Given the description of an element on the screen output the (x, y) to click on. 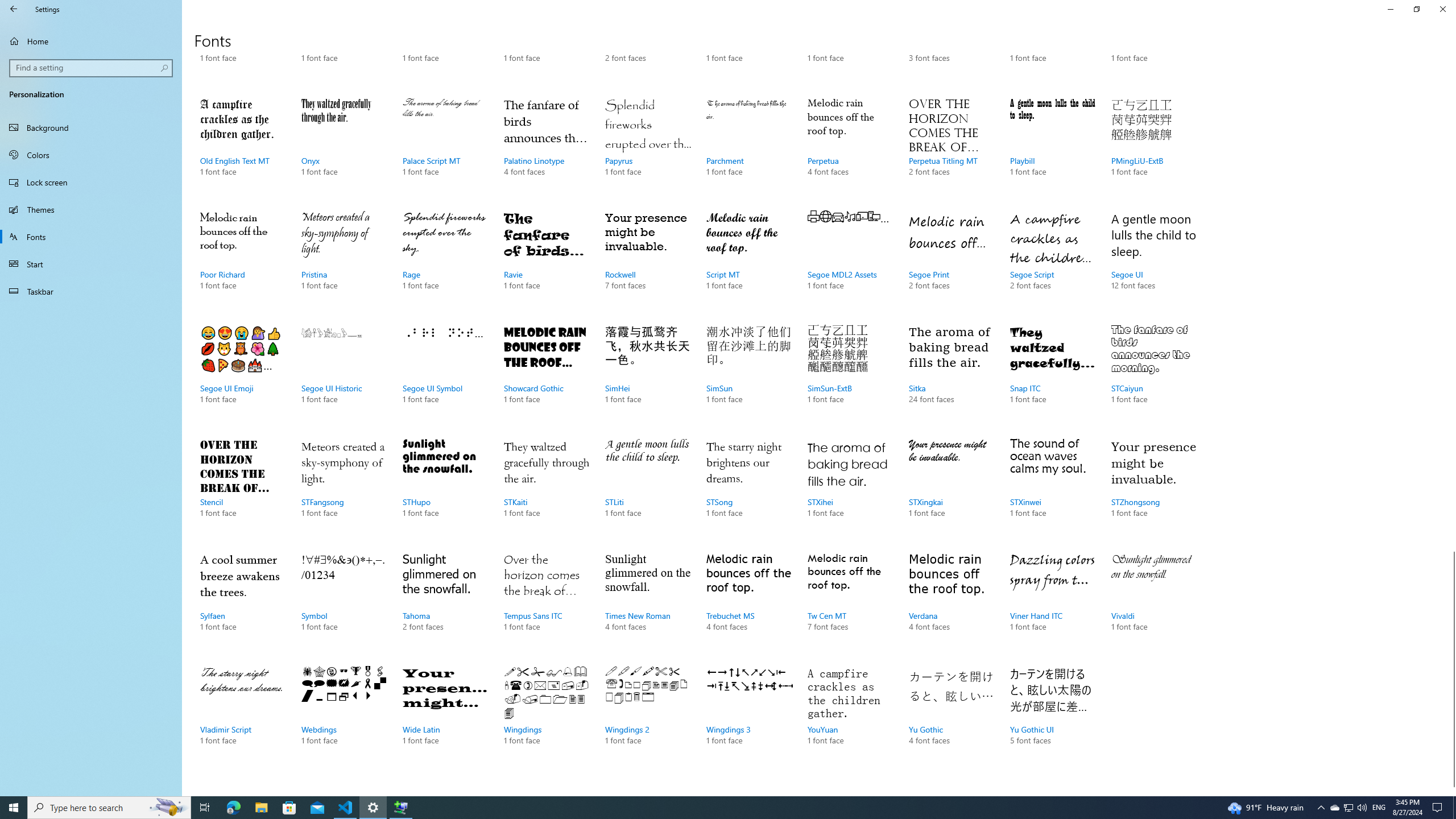
Segoe Script, 2 font faces (1052, 262)
STZhongsong, 1 font face (1153, 489)
STKaiti, 1 font face (545, 489)
Vertical Small Decrease (1451, 58)
Home (91, 40)
MT Extra, 1 font face (445, 45)
STHupo, 1 font face (445, 489)
User Promoted Notification Area (1347, 807)
Segoe UI Historic, 1 font face (343, 375)
Search highlights icon opens search home window (167, 807)
Type here to search (108, 807)
MS UI Gothic, 1 font face (343, 45)
Microsoft Store (289, 807)
Wingdings, 1 font face (545, 716)
Task View (204, 807)
